Given the description of an element on the screen output the (x, y) to click on. 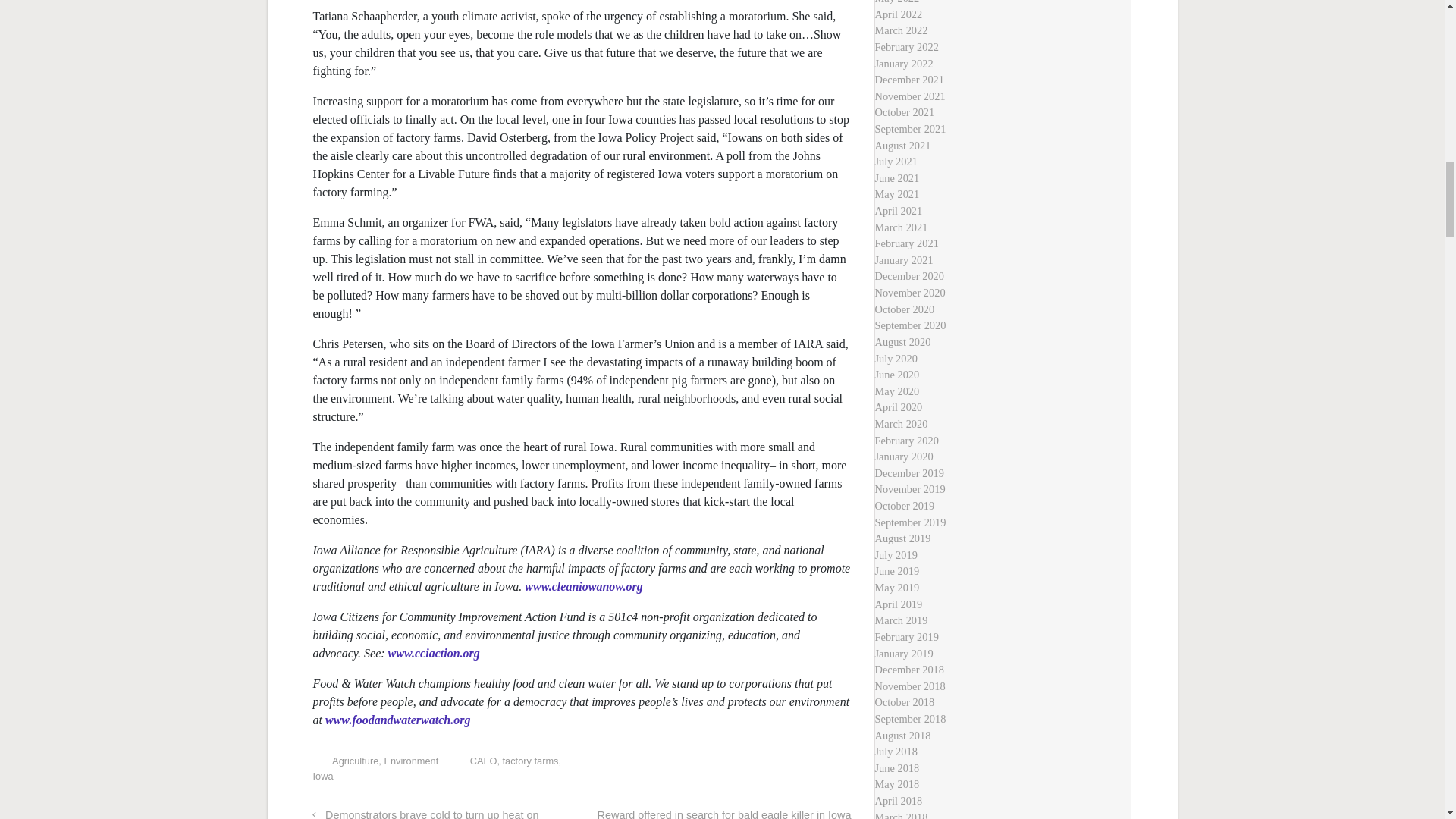
www.cciaction.org (434, 653)
Environment (411, 760)
Reward offered in search for bald eagle killer in Iowa (723, 814)
factory farms (530, 760)
www.cleaniowanow.org (583, 585)
Agriculture (354, 760)
CAFO (483, 760)
www.foodandwaterwatch.org (397, 719)
Iowa (323, 776)
Demonstrators brave cold to turn up heat on Cargill (425, 814)
